Given the description of an element on the screen output the (x, y) to click on. 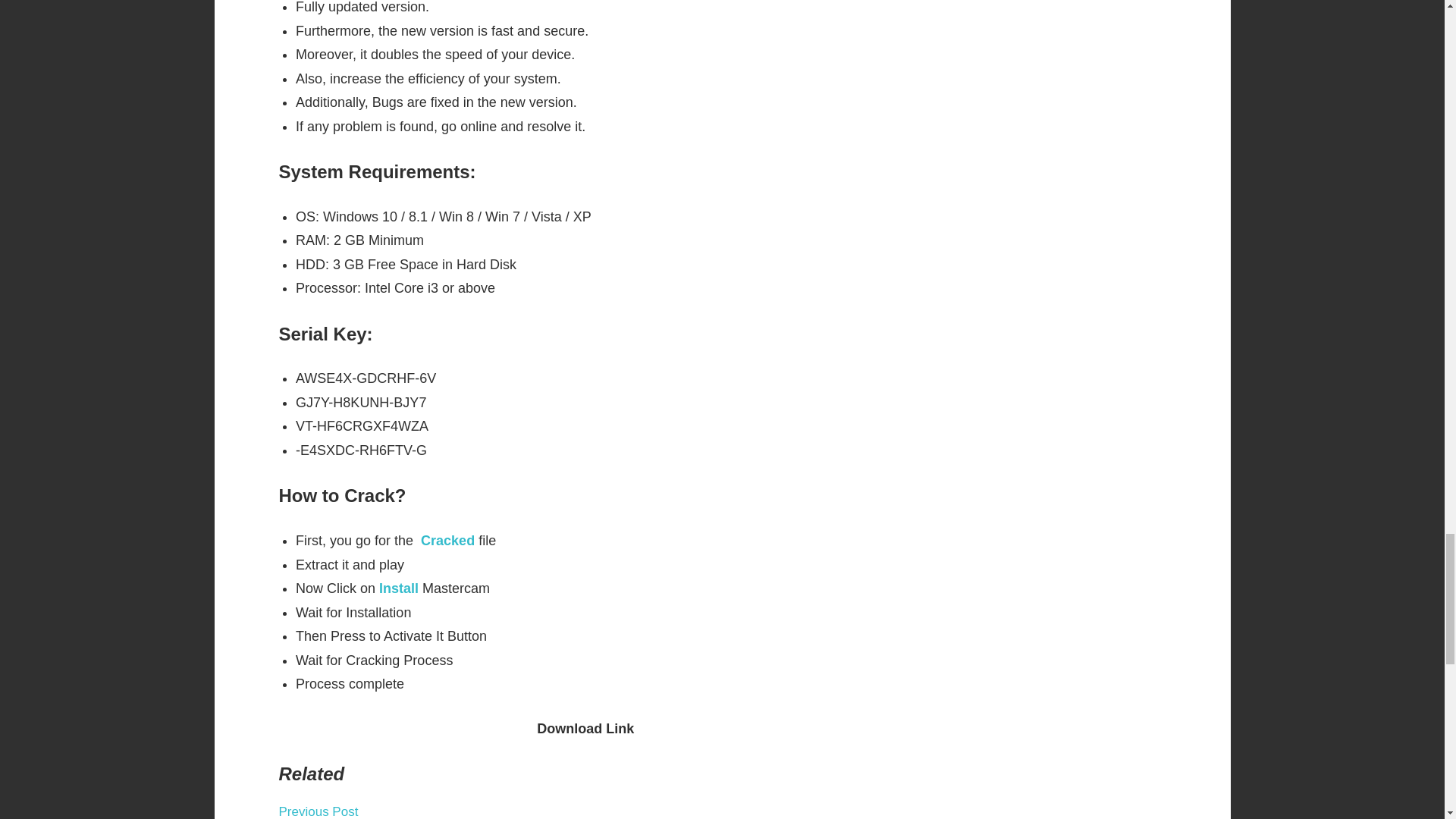
Cracked (447, 540)
Install (398, 588)
